Given the description of an element on the screen output the (x, y) to click on. 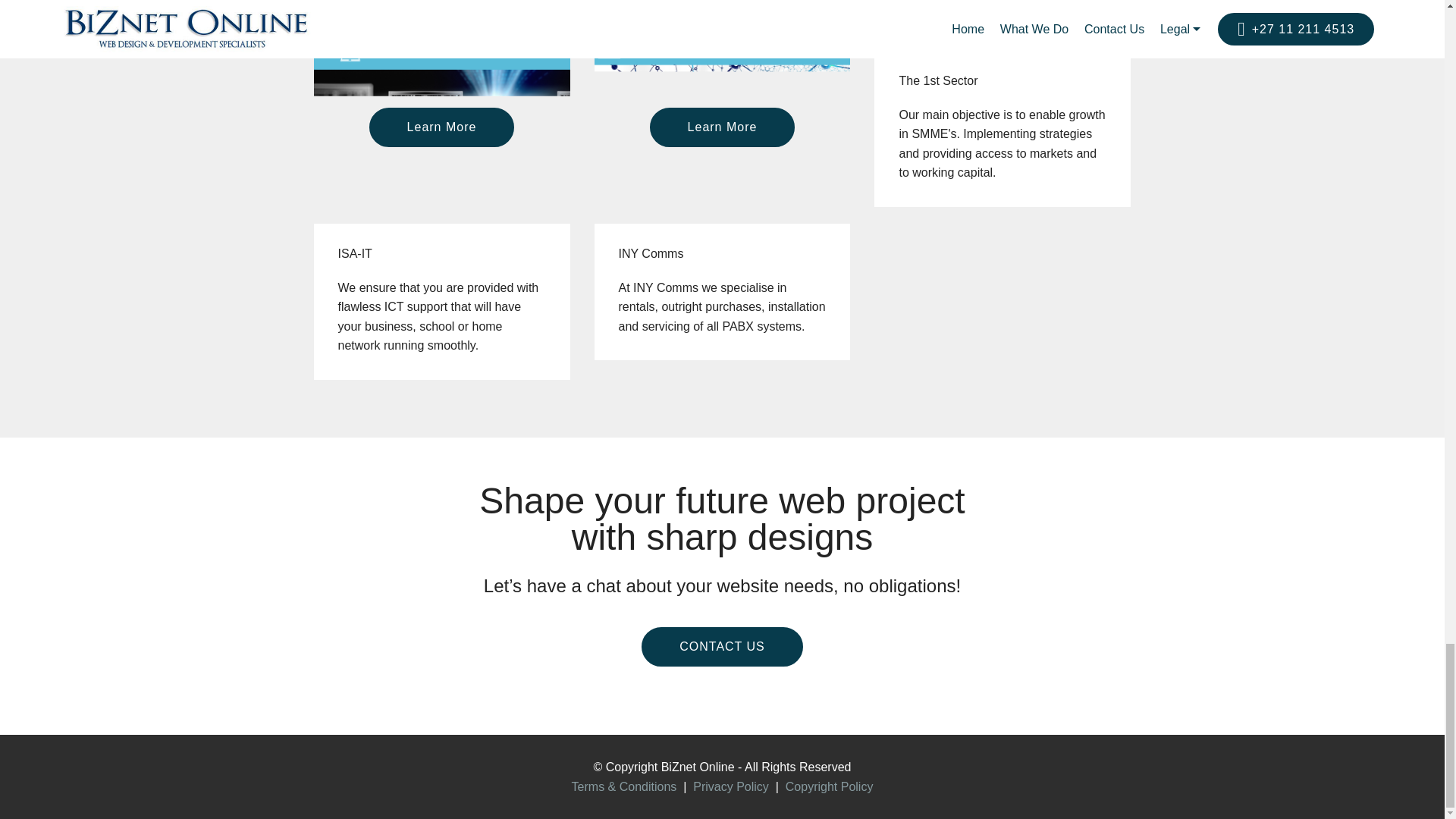
Copyright Policy (829, 786)
INY Comms (722, 126)
ISA IT (442, 126)
Learn More (721, 127)
CONTACT US (722, 646)
Learn More (442, 127)
The 1st Sector (1001, 41)
Learn More (1002, 40)
Privacy Policy (730, 786)
